Given the description of an element on the screen output the (x, y) to click on. 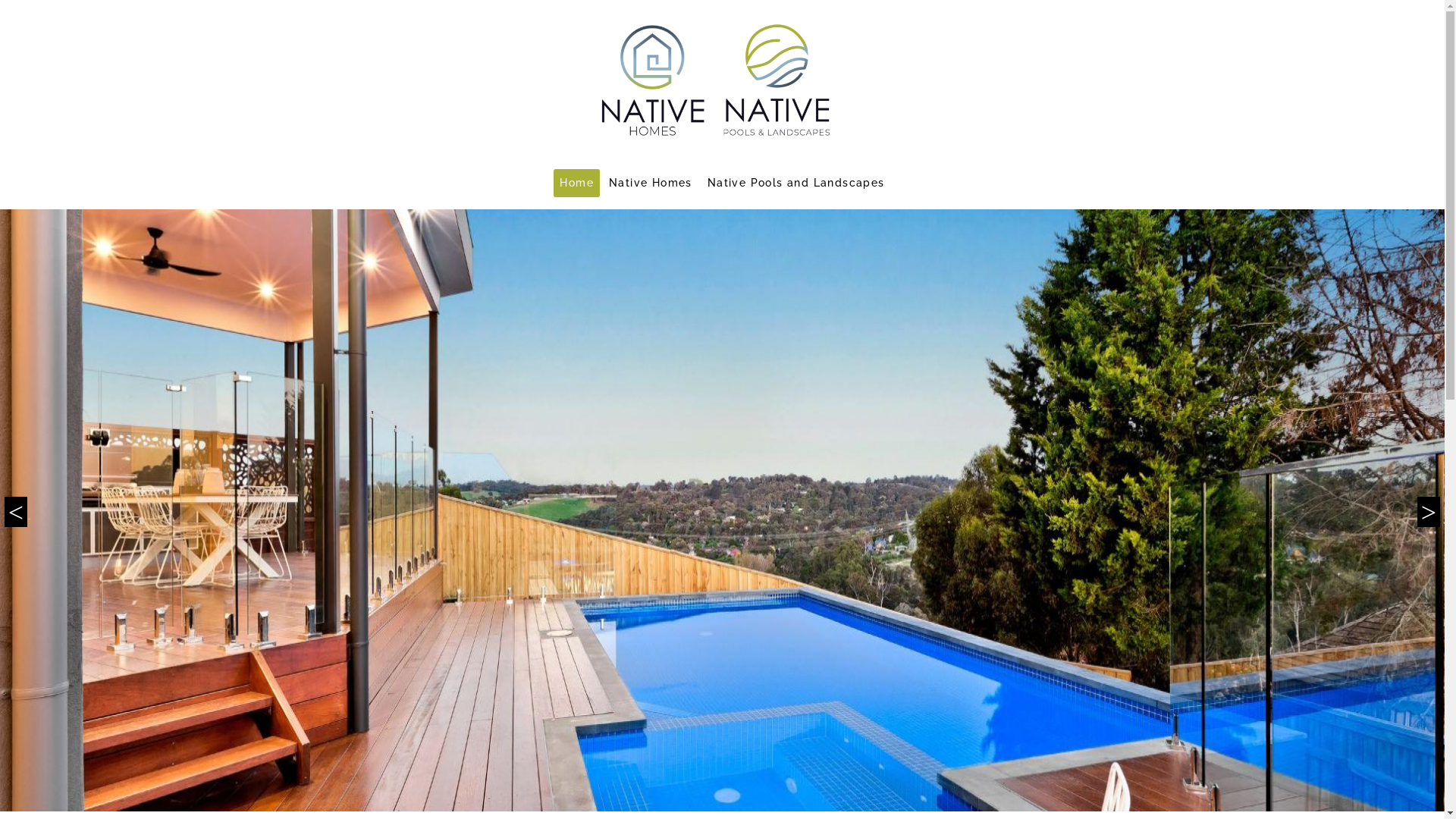
Native Pools and Landscapes Element type: text (796, 183)
Skip to main content Element type: text (0, 0)
Home Element type: hover (722, 79)
Native Homes Element type: text (650, 183)
Previous Element type: text (15, 509)
Next Element type: text (1428, 509)
Home Element type: text (576, 183)
